Given the description of an element on the screen output the (x, y) to click on. 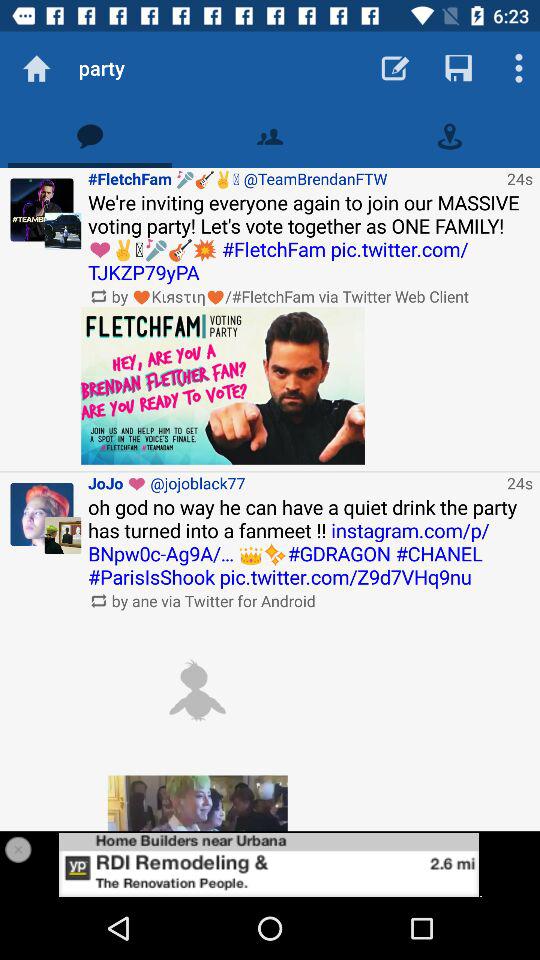
look at user details (41, 514)
